Given the description of an element on the screen output the (x, y) to click on. 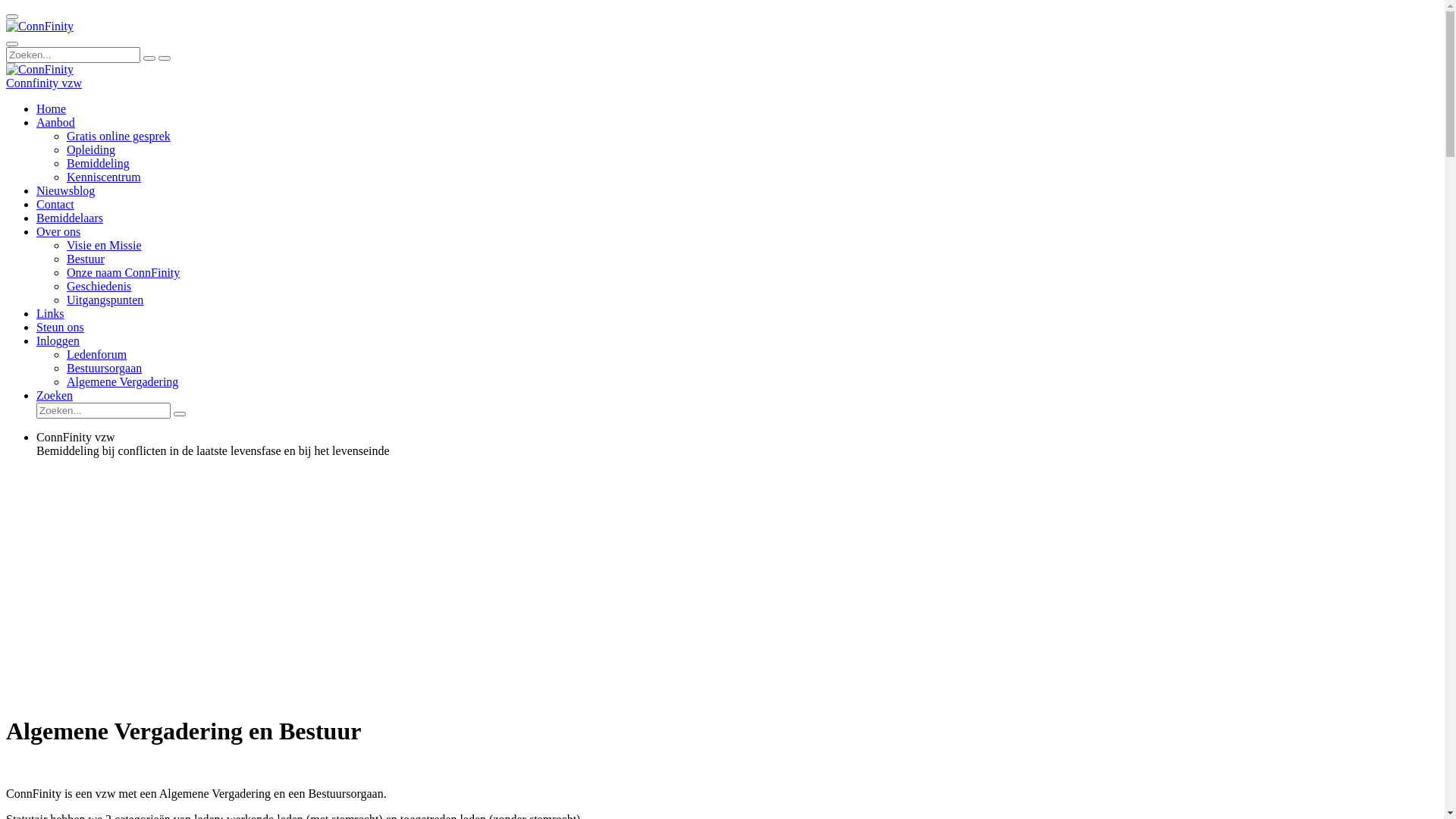
ConnFinity Element type: hover (39, 26)
Bemiddeling Element type: text (97, 162)
Bestuur Element type: text (85, 258)
Kenniscentrum Element type: text (103, 176)
Connfinity vzw Element type: text (43, 82)
Uitgangspunten Element type: text (104, 299)
Bestuursorgaan Element type: text (103, 367)
Ledenforum Element type: text (96, 354)
Inloggen Element type: text (57, 340)
Gratis online gesprek Element type: text (118, 135)
Contact Element type: text (55, 203)
Steun ons Element type: text (60, 326)
Algemene Vergadering Element type: text (122, 381)
Links Element type: text (49, 313)
Aanbod Element type: text (55, 122)
Over ons Element type: text (58, 231)
Visie en Missie Element type: text (103, 244)
Geschiedenis Element type: text (98, 285)
Nieuwsblog Element type: text (65, 190)
Home Element type: text (50, 108)
Bemiddelaars Element type: text (69, 217)
Opleiding Element type: text (90, 149)
ConnFinity Element type: hover (39, 69)
Zoeken Element type: text (54, 395)
Onze naam ConnFinity Element type: text (122, 272)
